Given the description of an element on the screen output the (x, y) to click on. 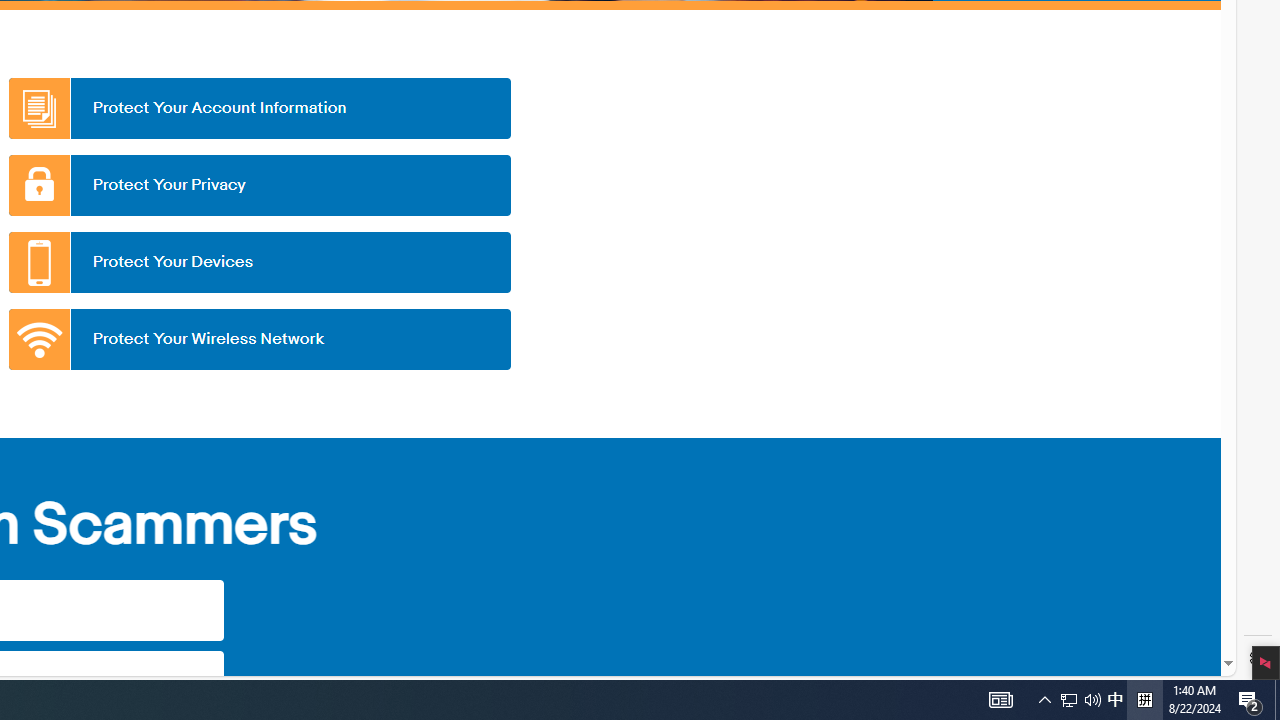
Protect Your Wireless Network (259, 339)
Protect Your Account Information (259, 107)
Protect Your Privacy (259, 185)
Protect Your Devices (259, 262)
